Given the description of an element on the screen output the (x, y) to click on. 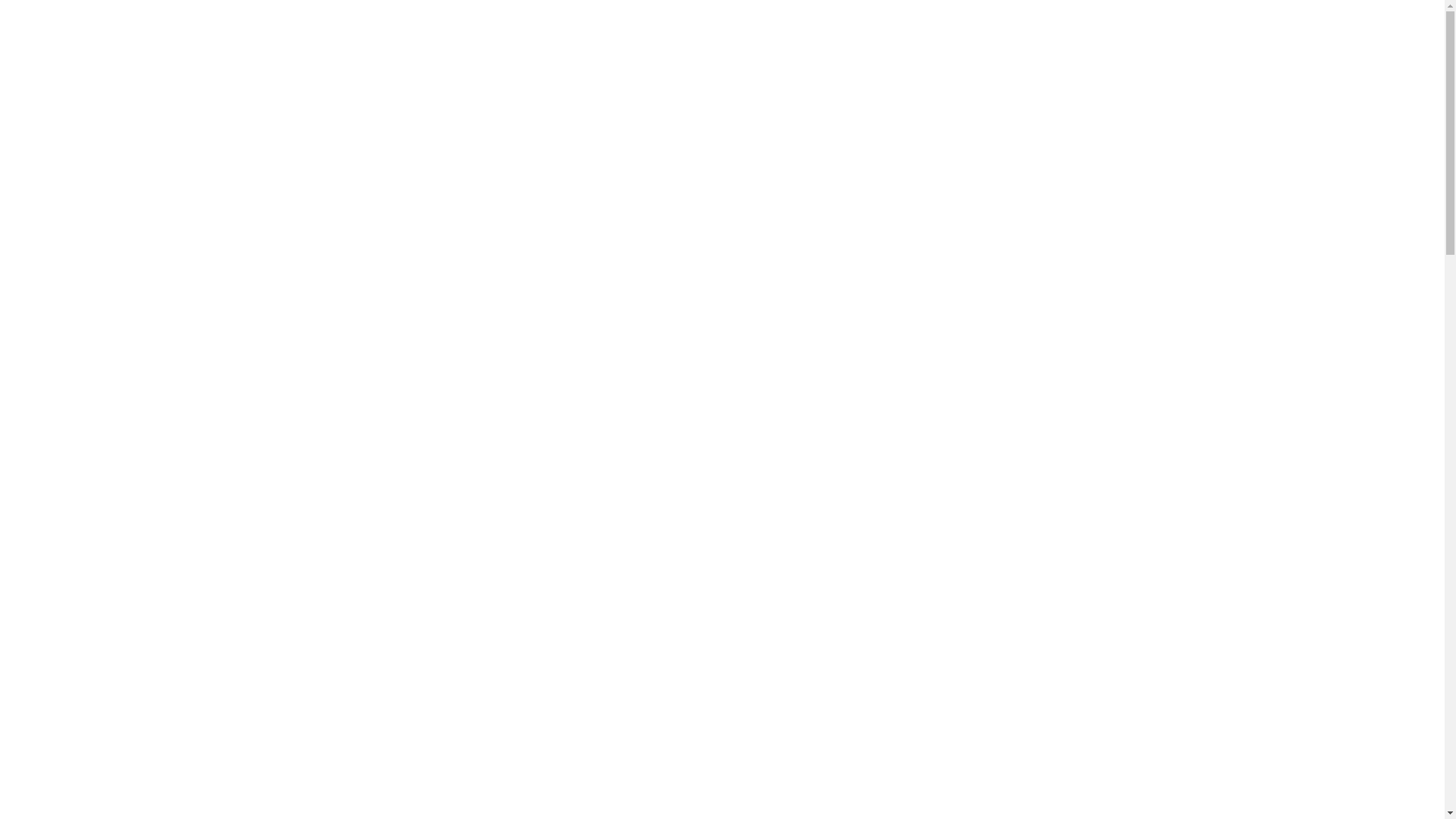
Post Comment Element type: text (51, 10)
